Given the description of an element on the screen output the (x, y) to click on. 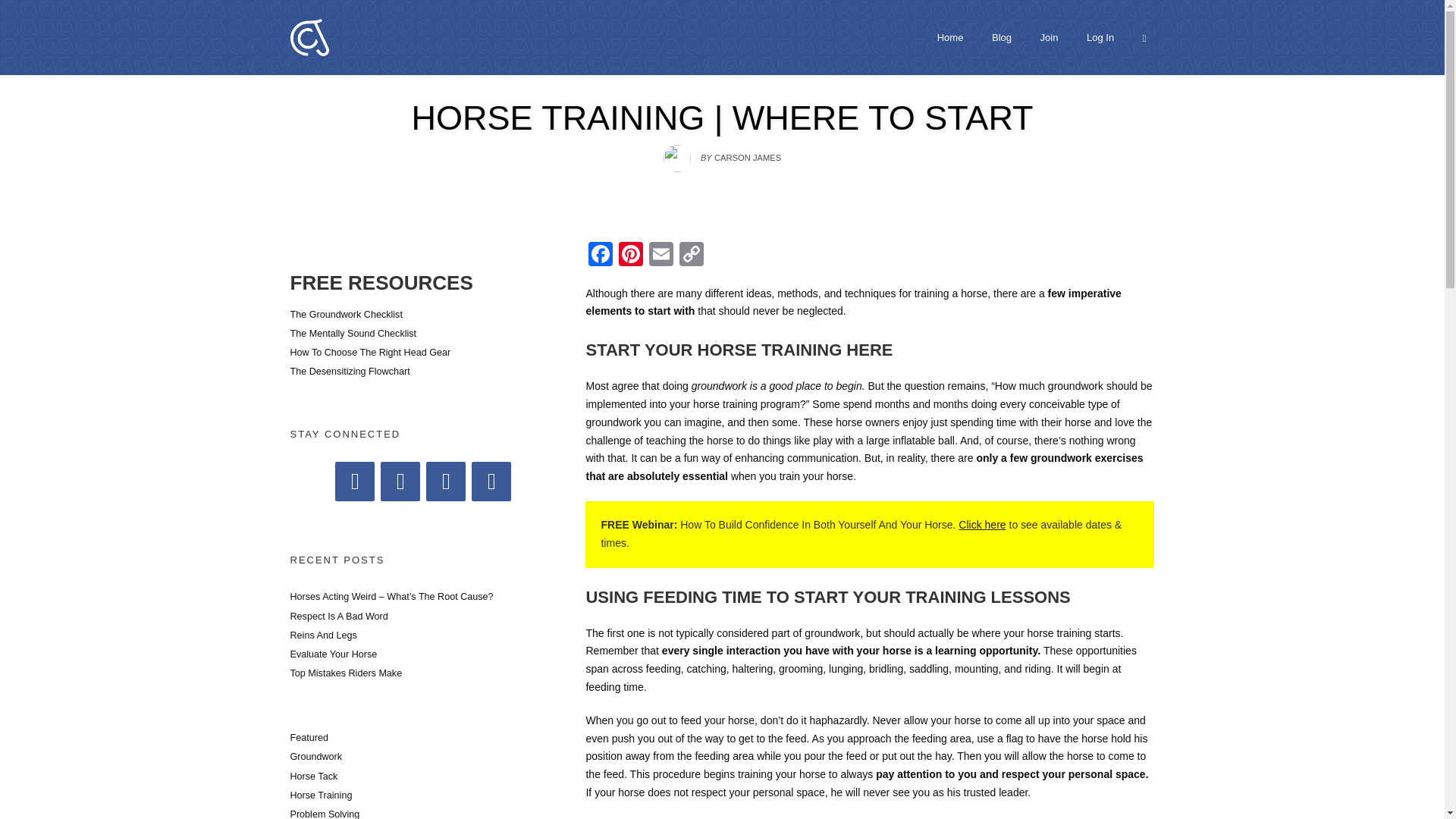
Click here (982, 524)
Home (950, 37)
Copy Link (691, 255)
Blog (1002, 37)
Pinterest (630, 255)
Pinterest (630, 255)
Join (1049, 37)
Email (661, 255)
Open Search Form (1144, 37)
The Mentally Sound Checklist (352, 333)
Facebook (600, 255)
BY CARSON JAMES (721, 153)
Carson James Blog (309, 37)
Copy Link (691, 255)
Facebook (600, 255)
